Given the description of an element on the screen output the (x, y) to click on. 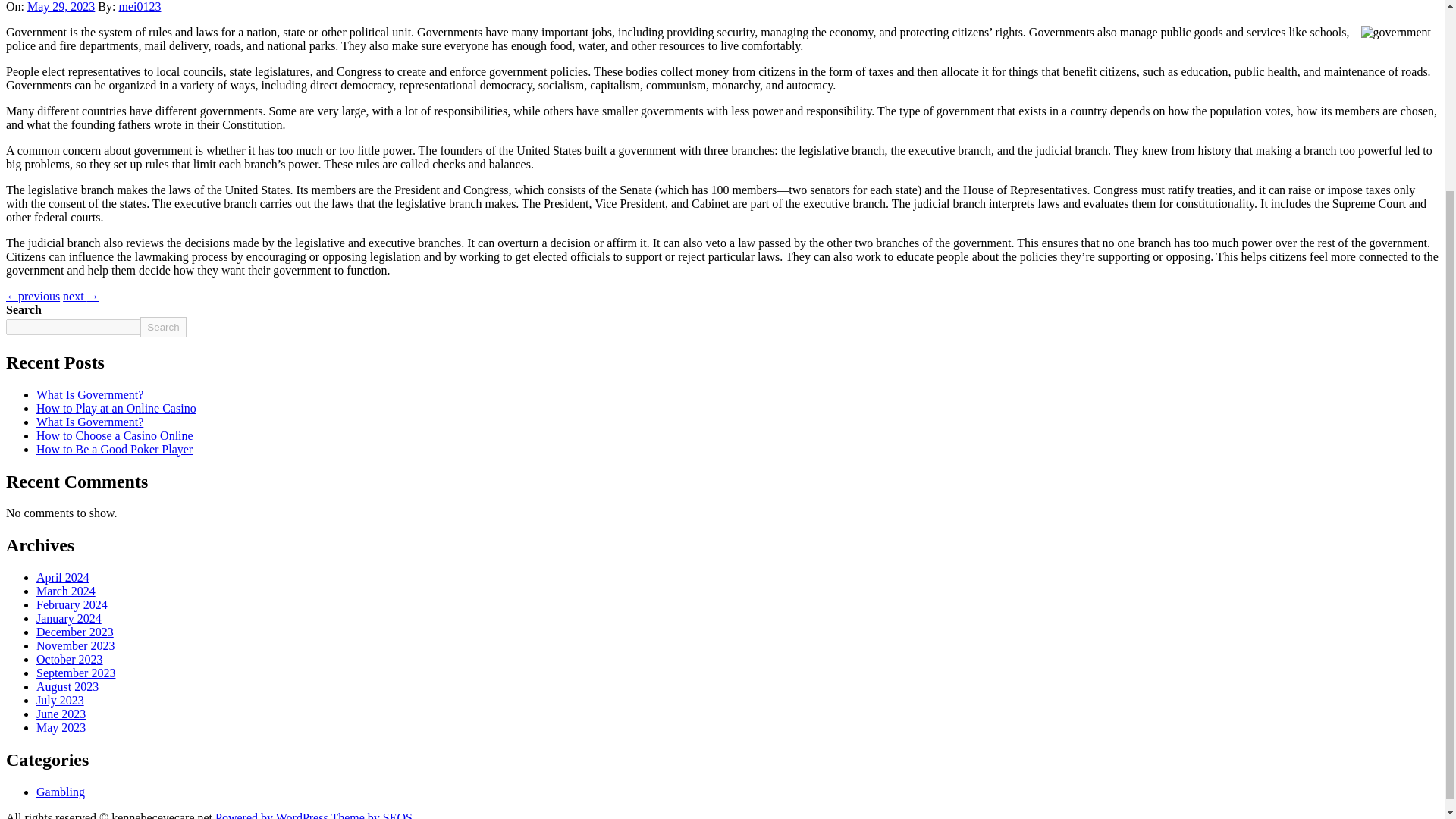
November 2023 (75, 645)
September 2023 (75, 672)
May 2023 (60, 727)
August 2023 (67, 686)
April 2024 (62, 576)
October 2023 (69, 658)
mei0123 (138, 6)
March 2024 (66, 590)
What Is Government? (89, 421)
December 2023 (74, 631)
How to Be a Good Poker Player (114, 449)
June 2023 (60, 713)
Search (162, 326)
Gambling (60, 791)
July 2023 (60, 699)
